Given the description of an element on the screen output the (x, y) to click on. 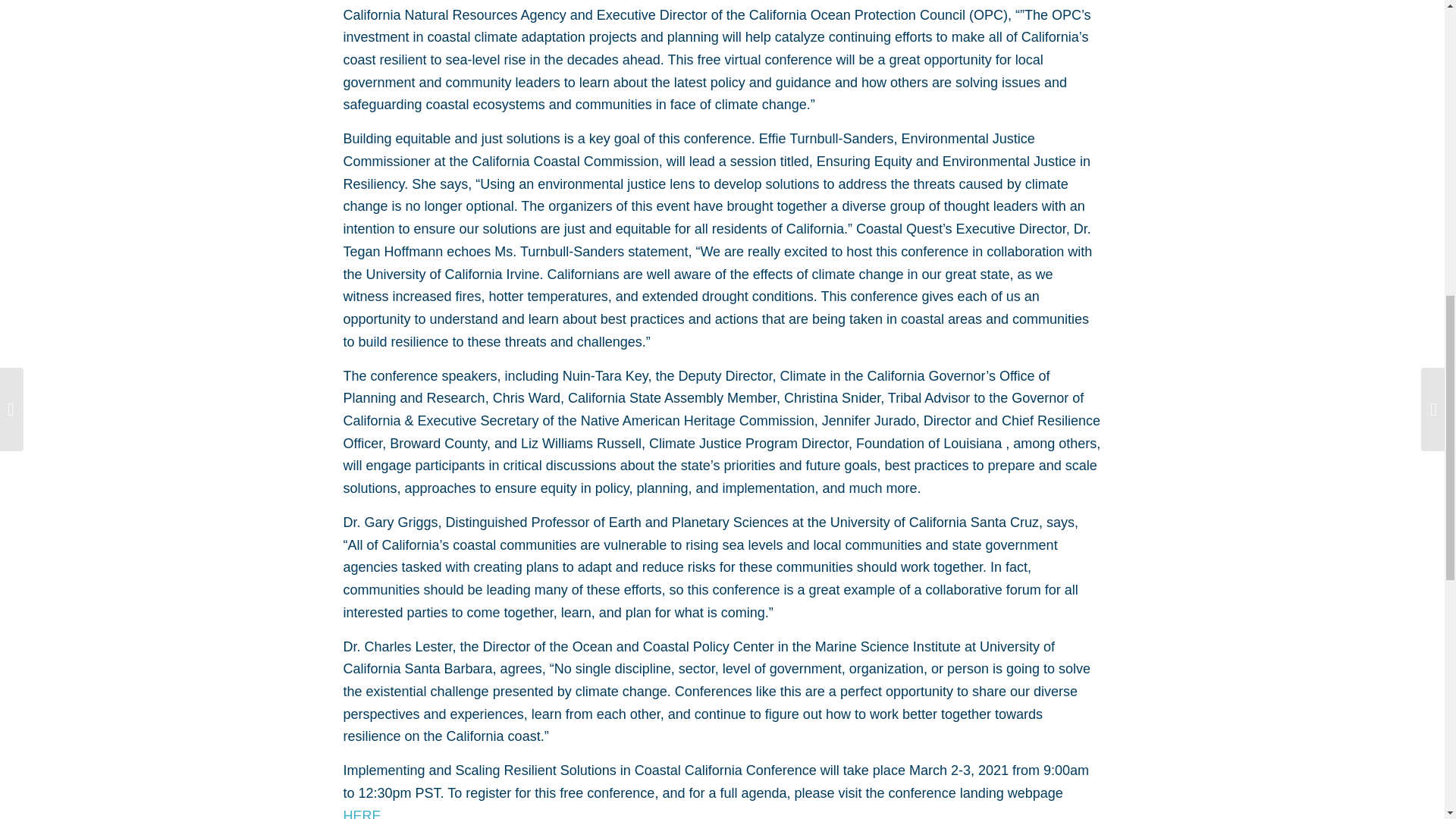
HERE (361, 813)
